Given the description of an element on the screen output the (x, y) to click on. 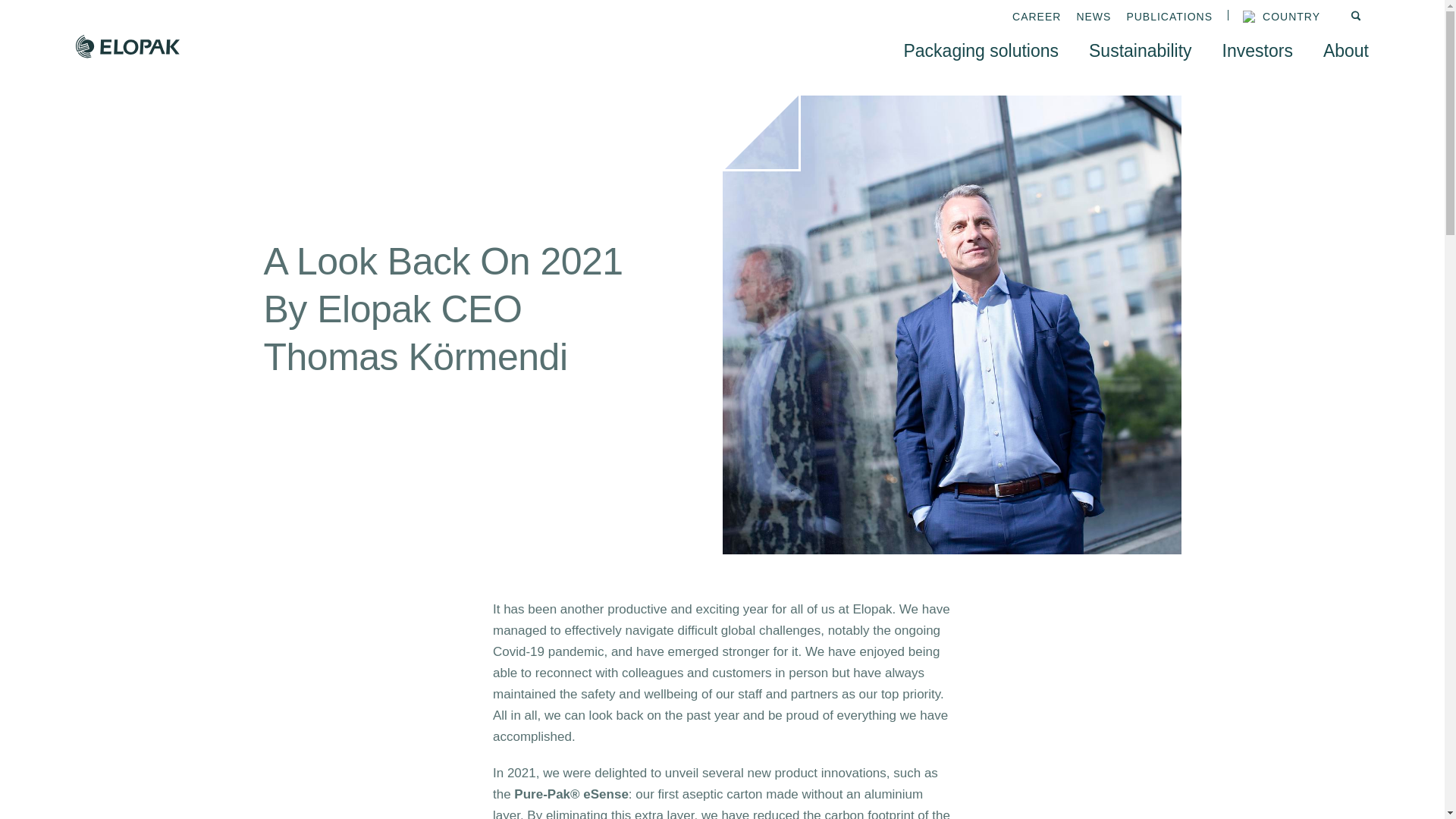
News (1092, 16)
Sustainability (1140, 50)
Publications (1168, 16)
Search (1359, 16)
Packaging solutions (980, 50)
About (1345, 50)
Career (1036, 16)
Investors (1257, 50)
